Given the description of an element on the screen output the (x, y) to click on. 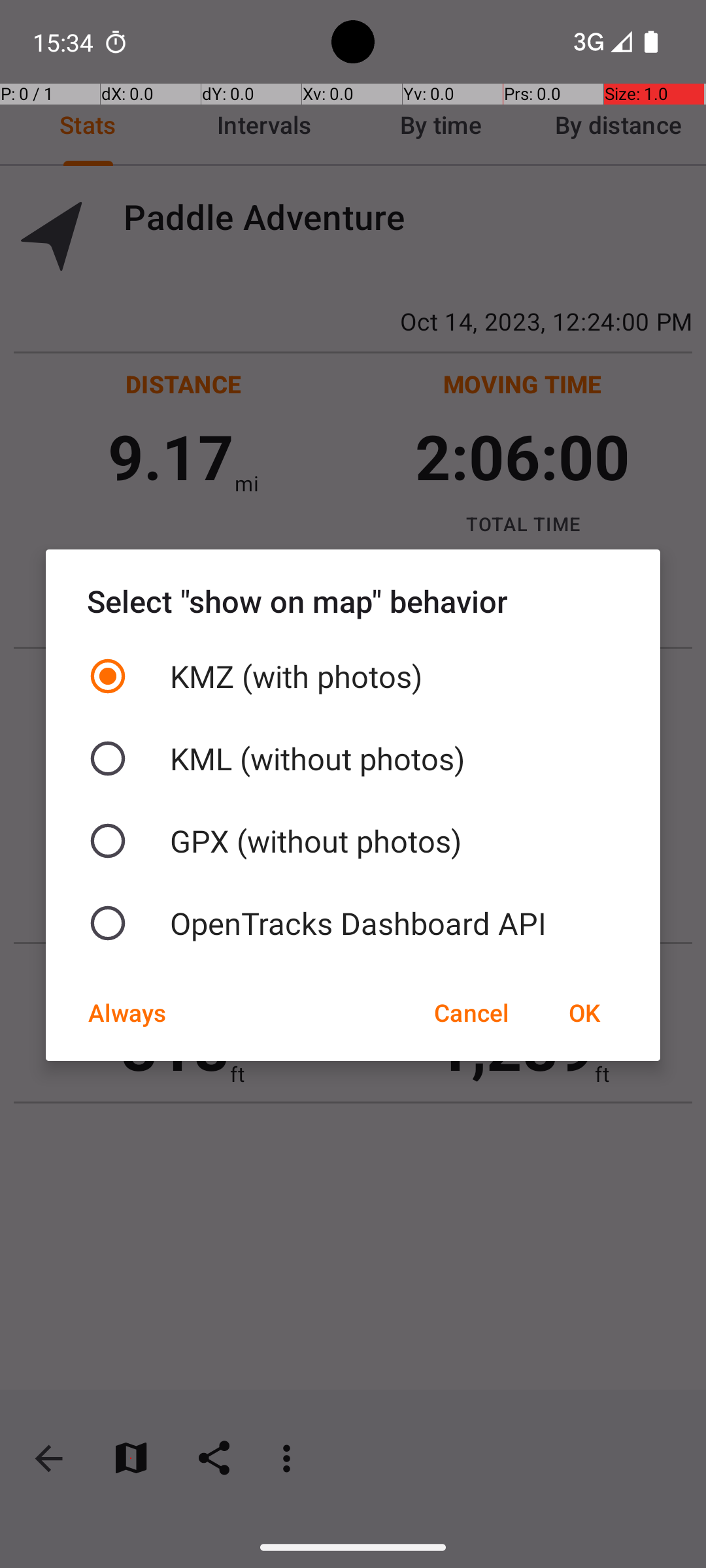
Select "show on map" behavior Element type: android.widget.TextView (352, 600)
KMZ (with photos) Element type: android.widget.CheckedTextView (352, 676)
KML (without photos) Element type: android.widget.CheckedTextView (352, 758)
GPX (without photos) Element type: android.widget.CheckedTextView (352, 840)
OpenTracks Dashboard API Element type: android.widget.CheckedTextView (352, 923)
